Given the description of an element on the screen output the (x, y) to click on. 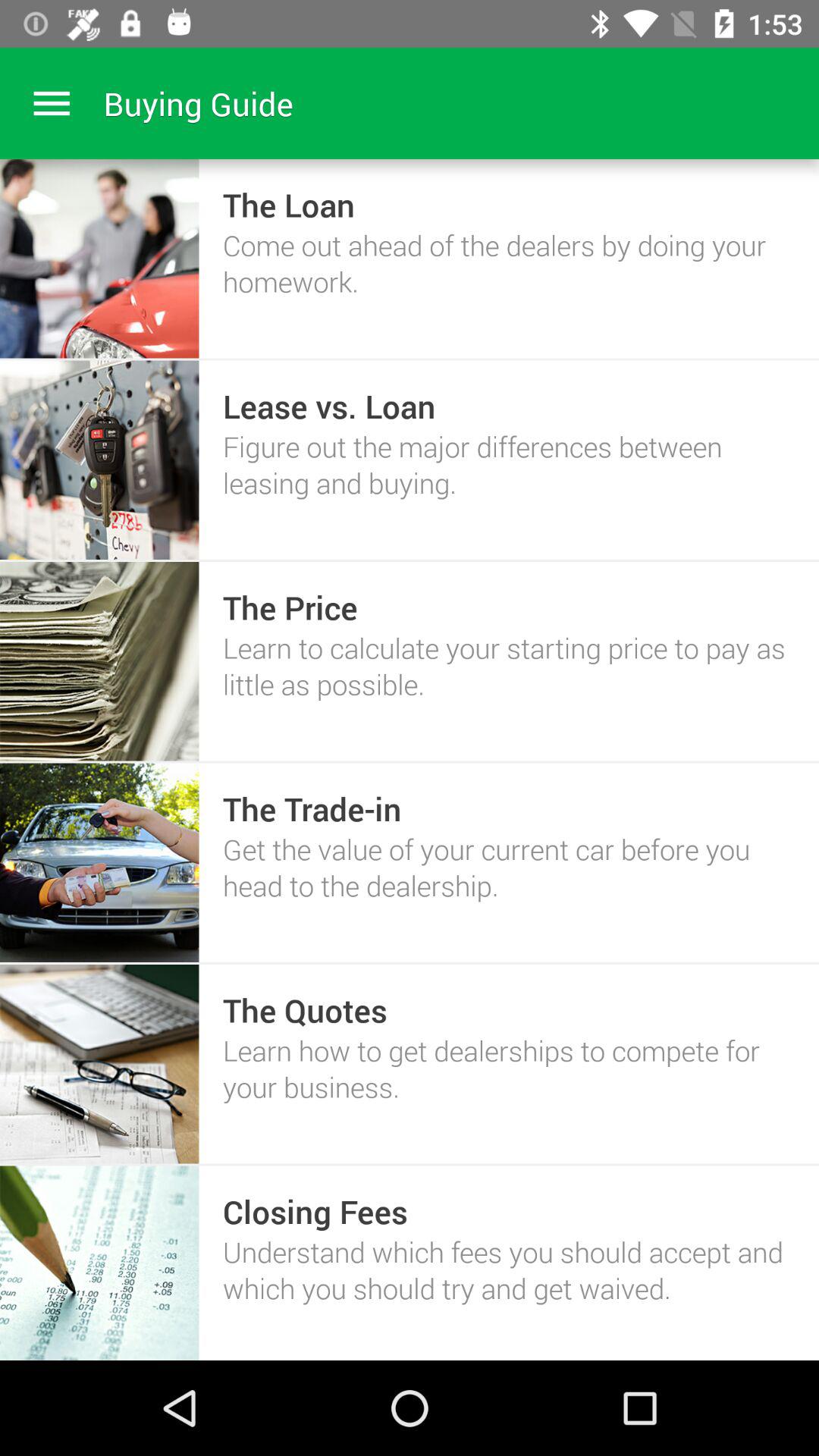
choose icon above the the quotes (508, 867)
